Given the description of an element on the screen output the (x, y) to click on. 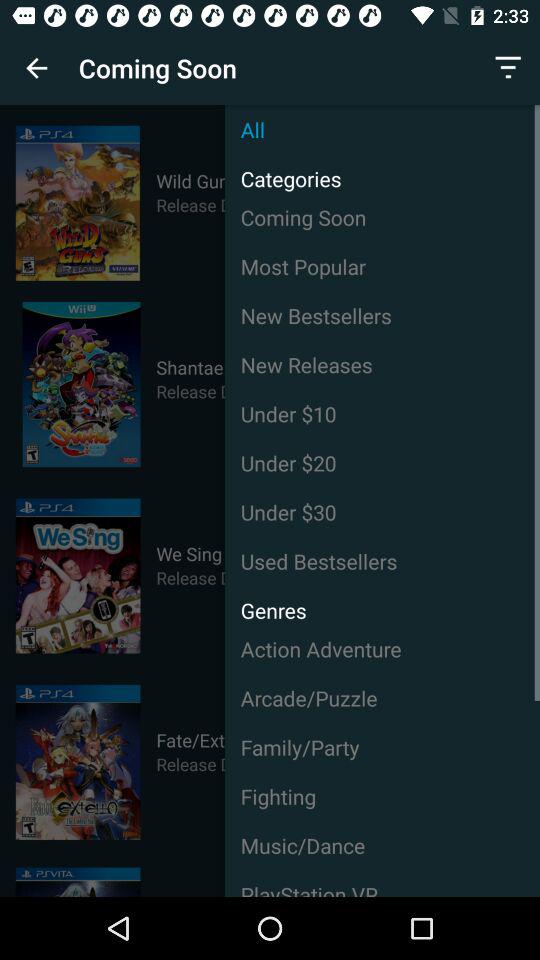
swipe to the used bestsellers item (382, 561)
